Given the description of an element on the screen output the (x, y) to click on. 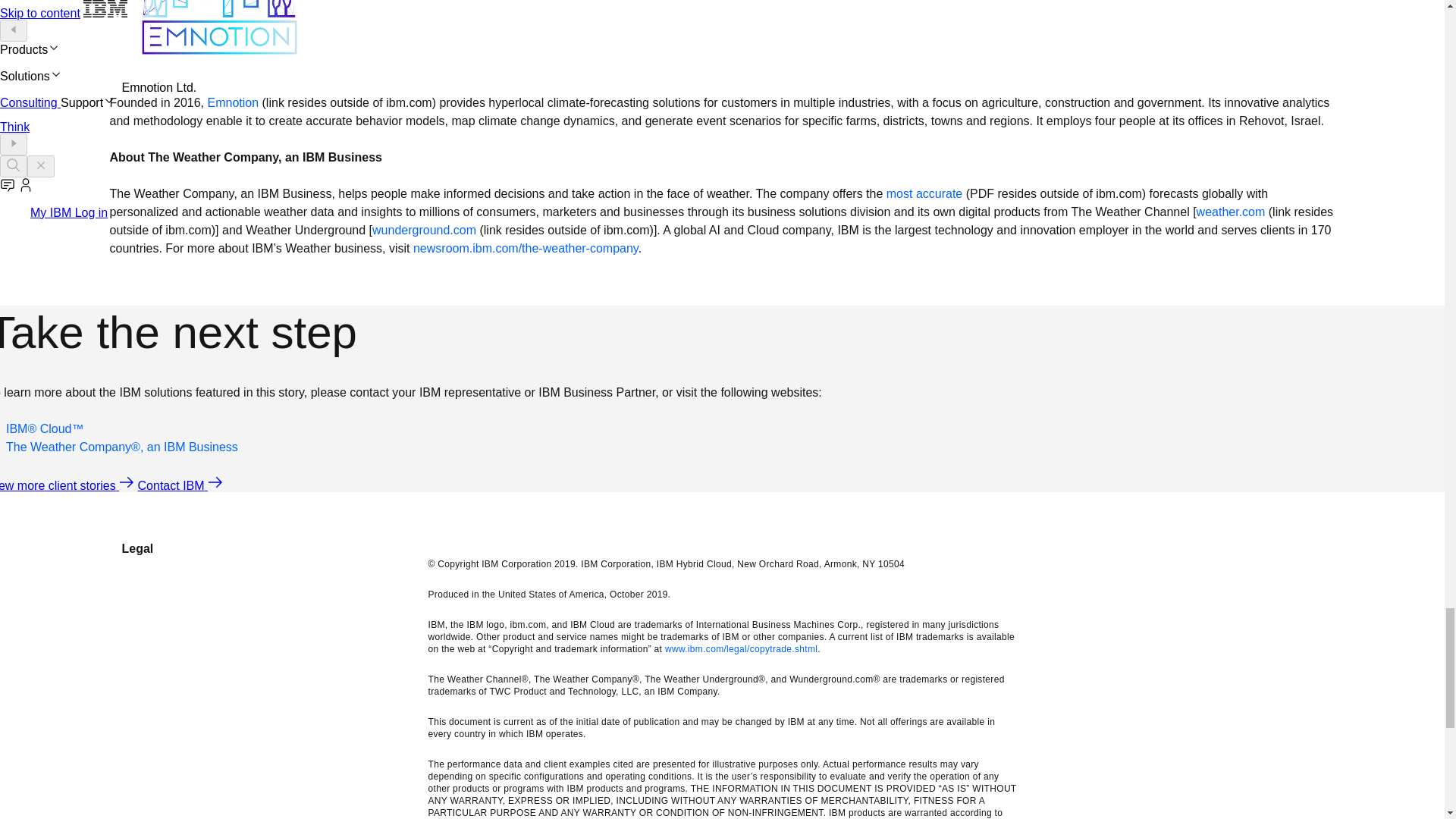
wunderground.com (424, 229)
most accurate (924, 193)
weather.com (1230, 211)
Emnotion (233, 102)
